Given the description of an element on the screen output the (x, y) to click on. 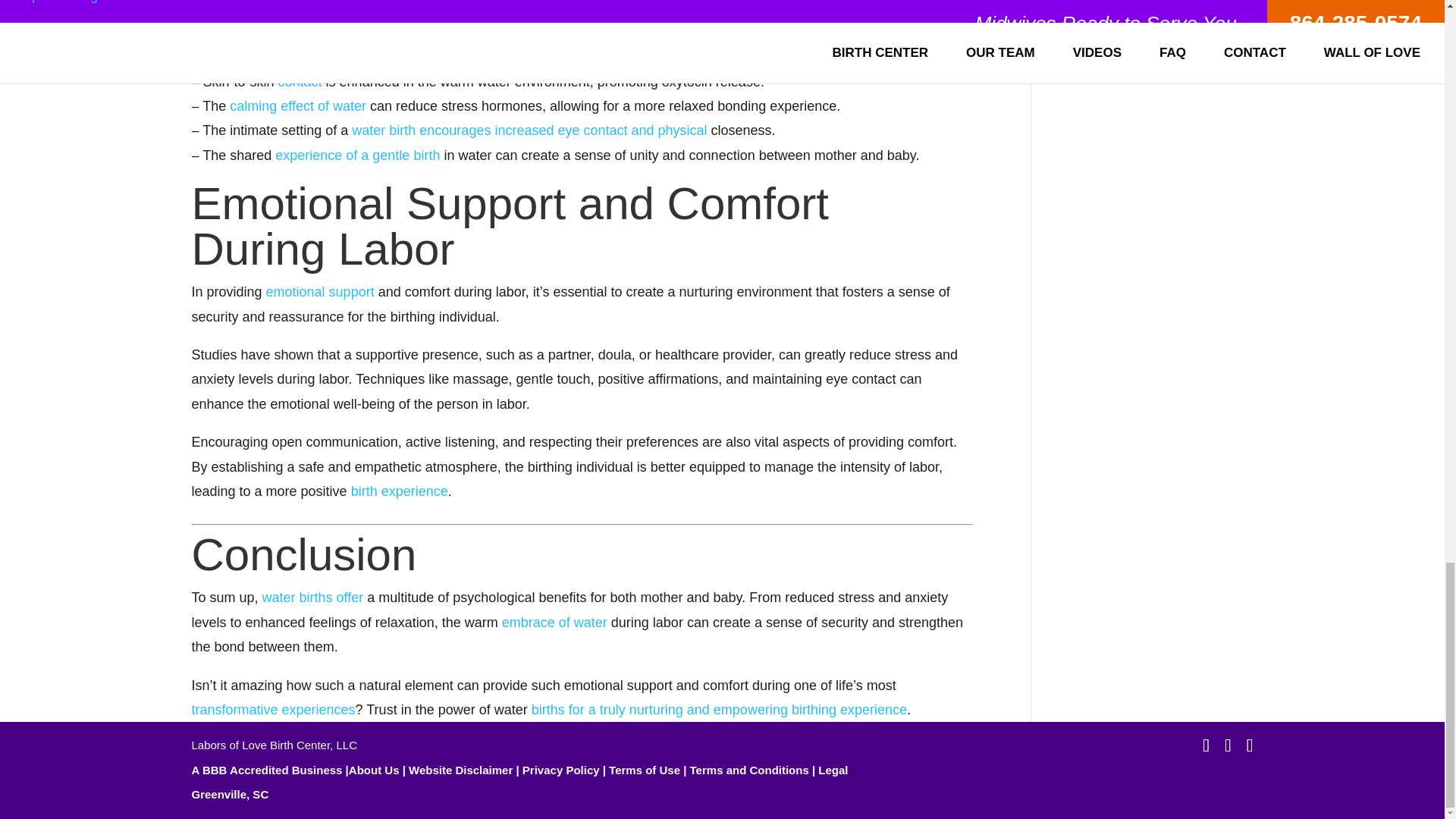
water birth encourages increased eye contact and physical (529, 130)
contact (299, 81)
calming effect of water (298, 105)
